Given the description of an element on the screen output the (x, y) to click on. 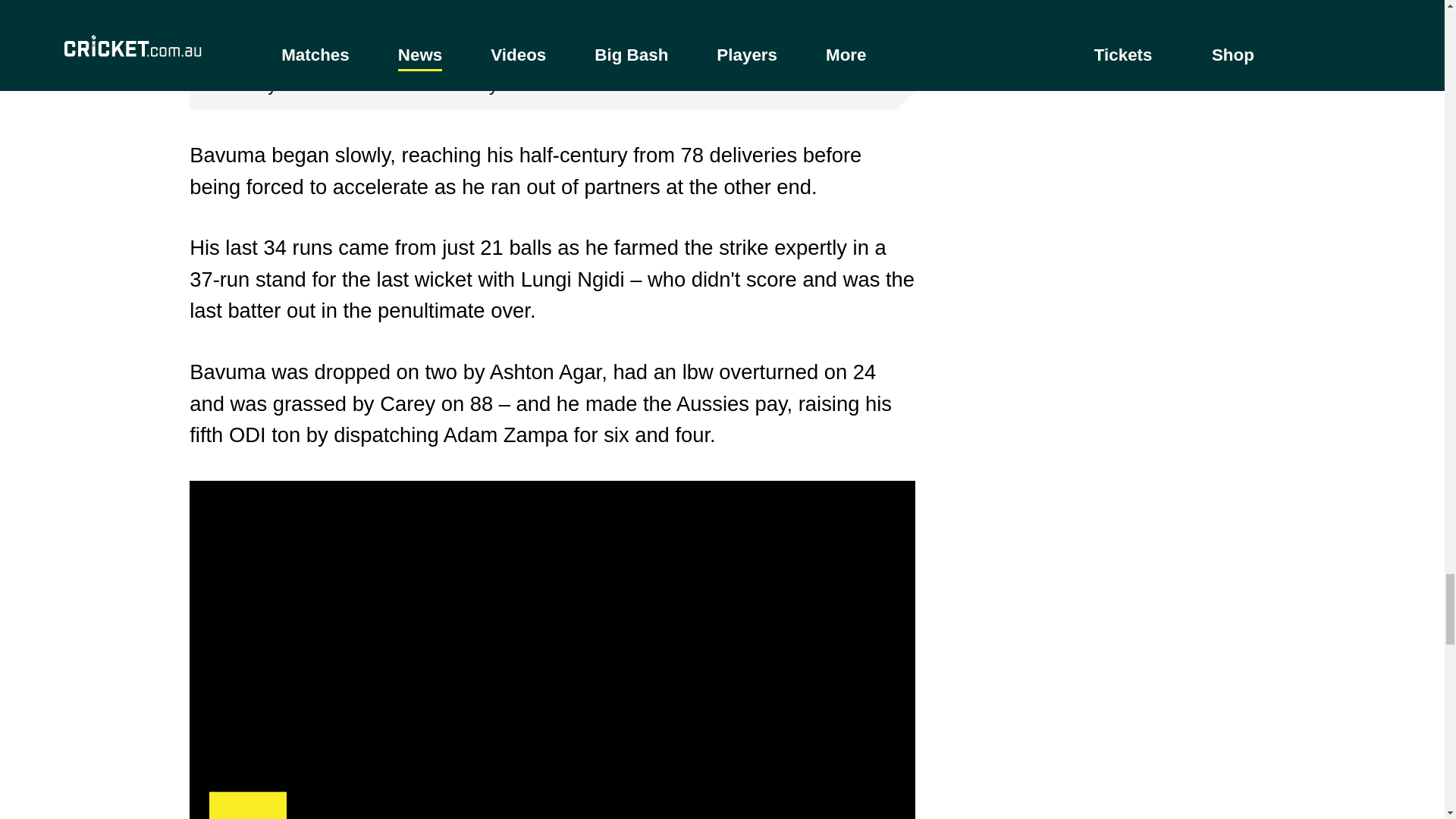
Play video (552, 30)
